Given the description of an element on the screen output the (x, y) to click on. 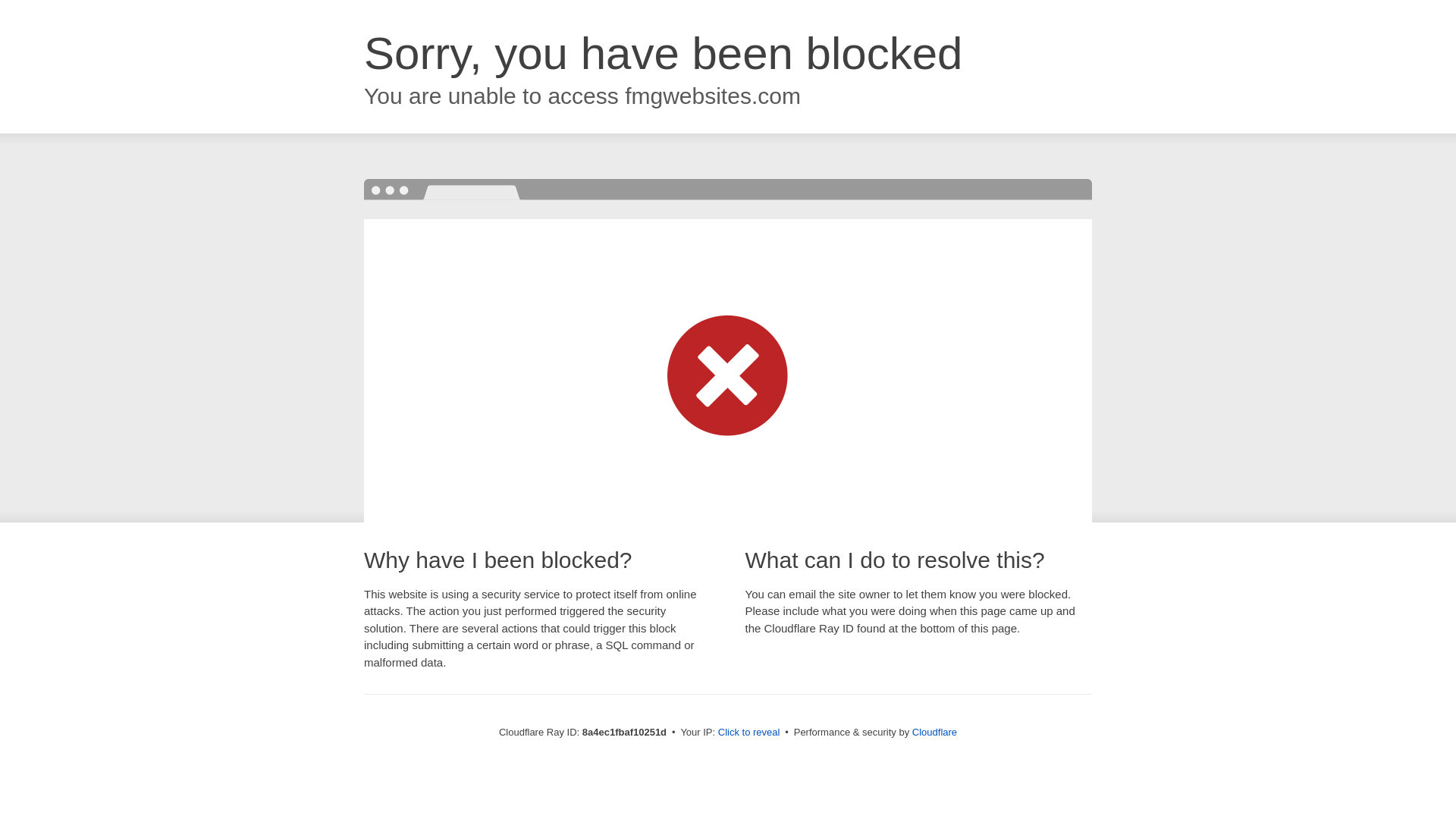
Cloudflare (934, 731)
Click to reveal (748, 732)
